Given the description of an element on the screen output the (x, y) to click on. 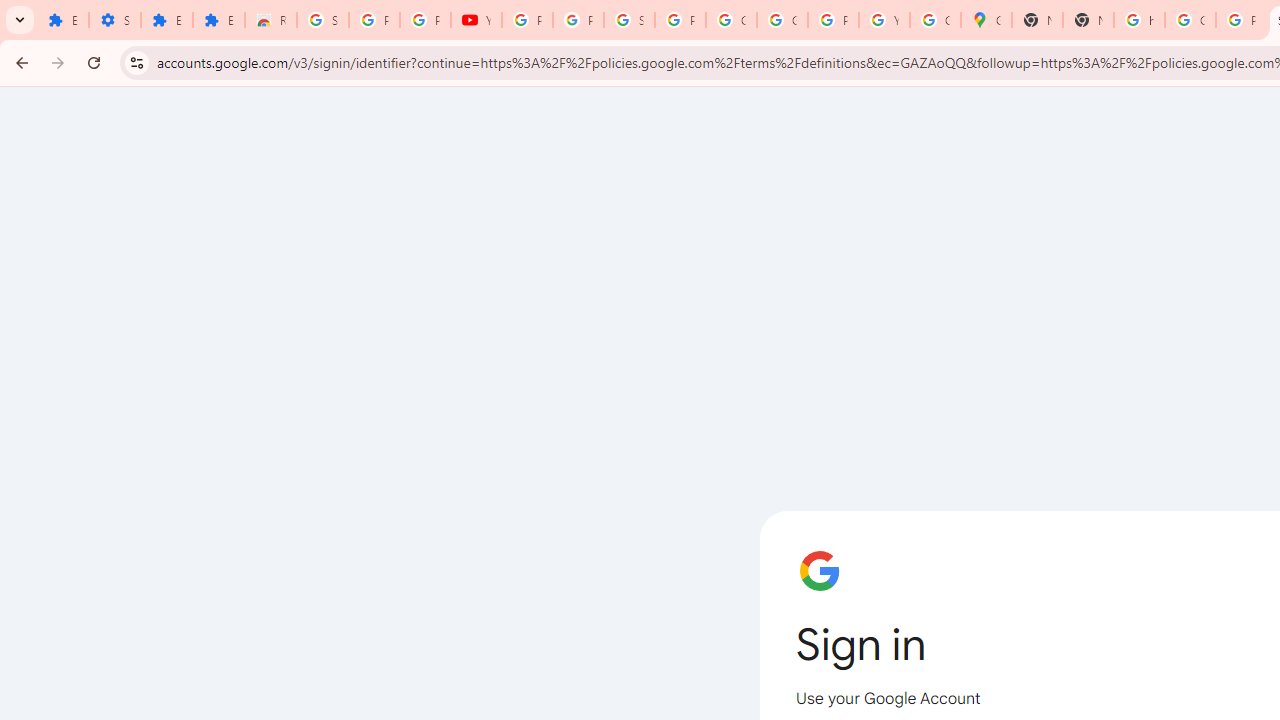
New Tab (1037, 20)
Google Account (731, 20)
Extensions (63, 20)
YouTube (884, 20)
Settings (114, 20)
https://scholar.google.com/ (1138, 20)
YouTube (475, 20)
